Given the description of an element on the screen output the (x, y) to click on. 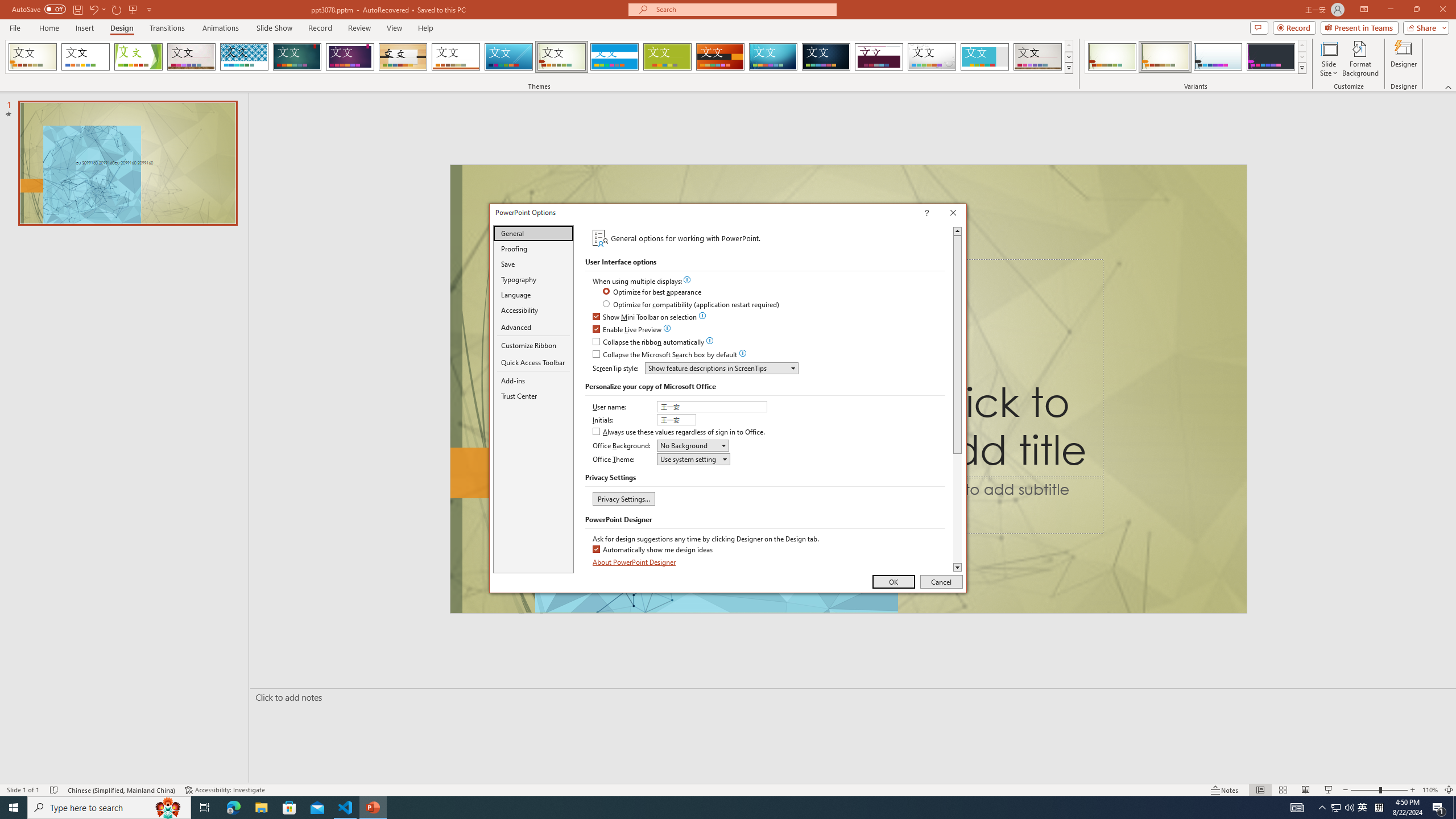
Microsoft Store (289, 807)
Enable Live Preview (627, 330)
Circuit Loading Preview... (772, 56)
Dividend Loading Preview... (879, 56)
Office Theme (85, 56)
Automatically show me design ideas (653, 549)
Frame Loading Preview... (984, 56)
Microsoft Edge (233, 807)
Facet (138, 56)
Running applications (707, 807)
